Given the description of an element on the screen output the (x, y) to click on. 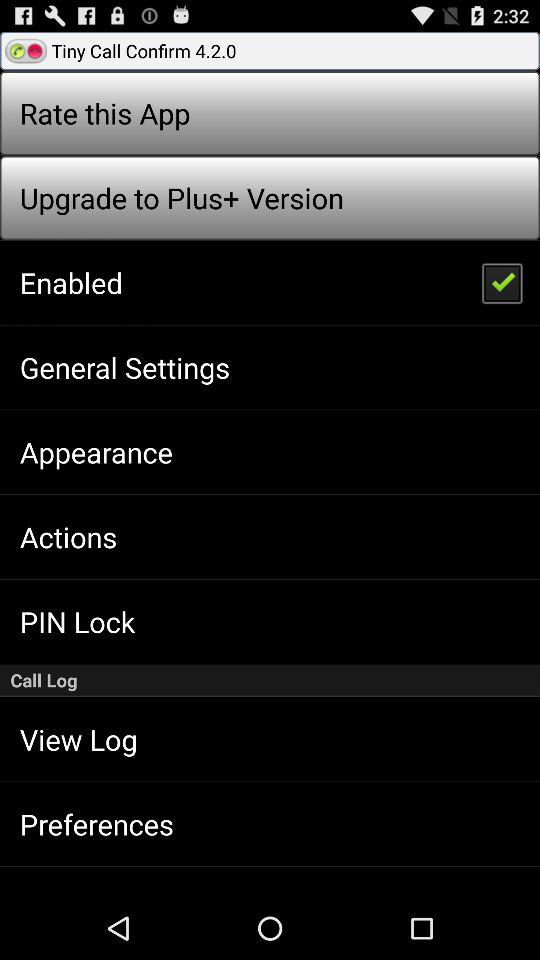
open the call log (270, 680)
